Given the description of an element on the screen output the (x, y) to click on. 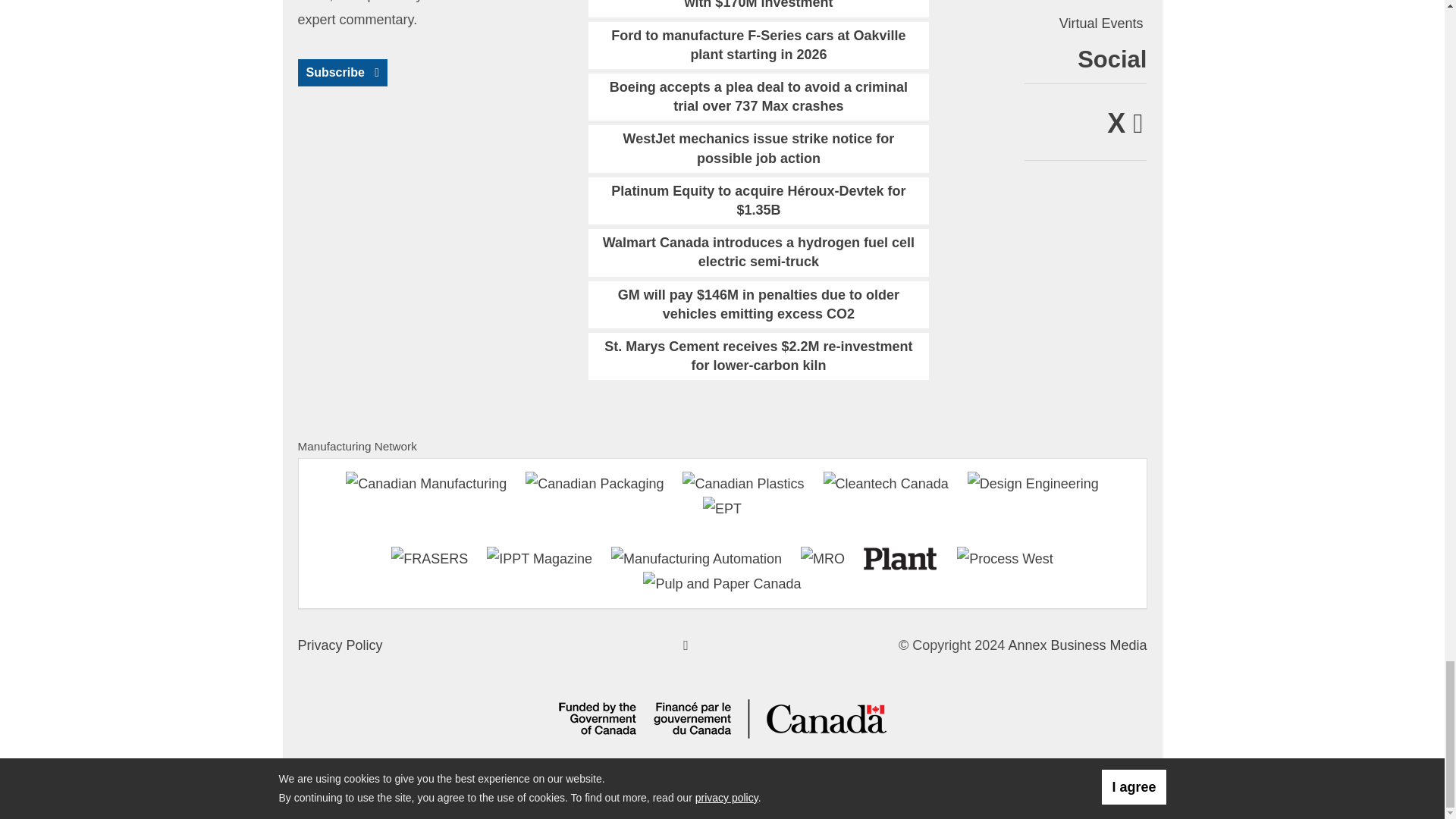
Annex Business Media (1077, 645)
